Given the description of an element on the screen output the (x, y) to click on. 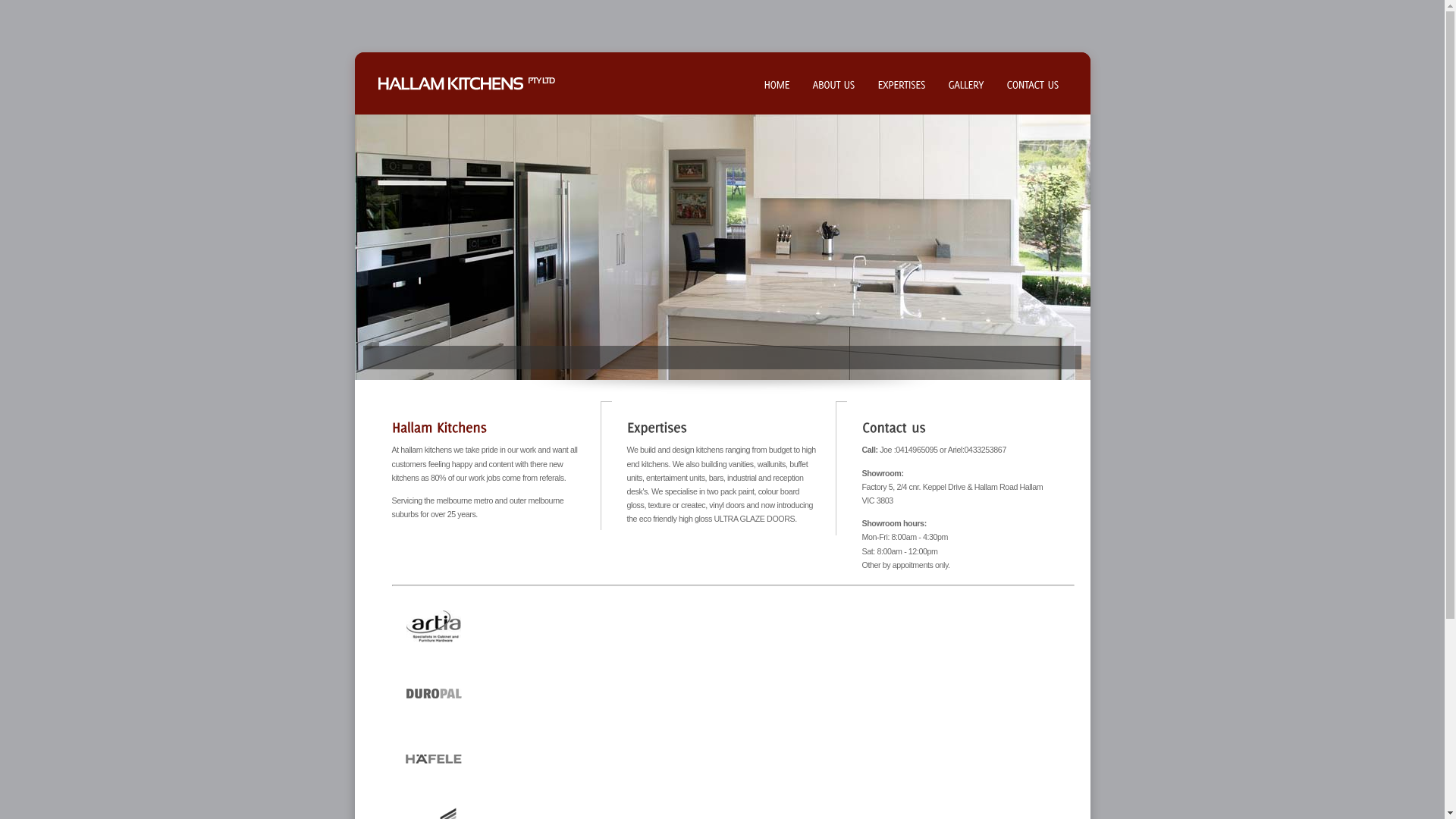
Dropal Element type: hover (433, 692)
Artia Element type: hover (433, 626)
# Element type: hover (893, 426)
# Element type: hover (438, 426)
# Element type: hover (656, 426)
Hafele Element type: hover (433, 758)
